Given the description of an element on the screen output the (x, y) to click on. 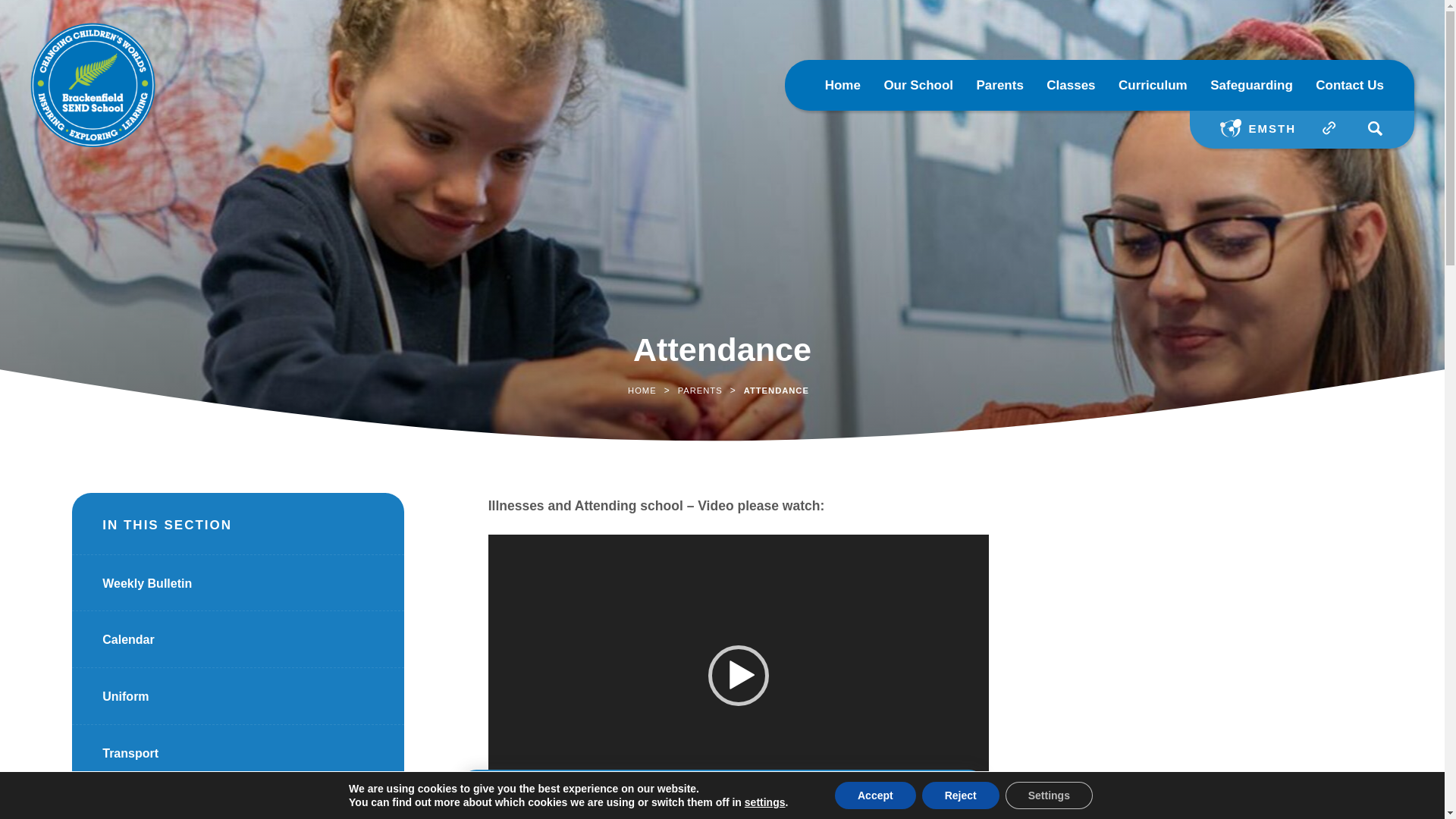
Classes (1070, 84)
Our School (918, 84)
Play (507, 800)
Mute (944, 800)
Parents (999, 84)
Fullscreen (968, 800)
